Given the description of an element on the screen output the (x, y) to click on. 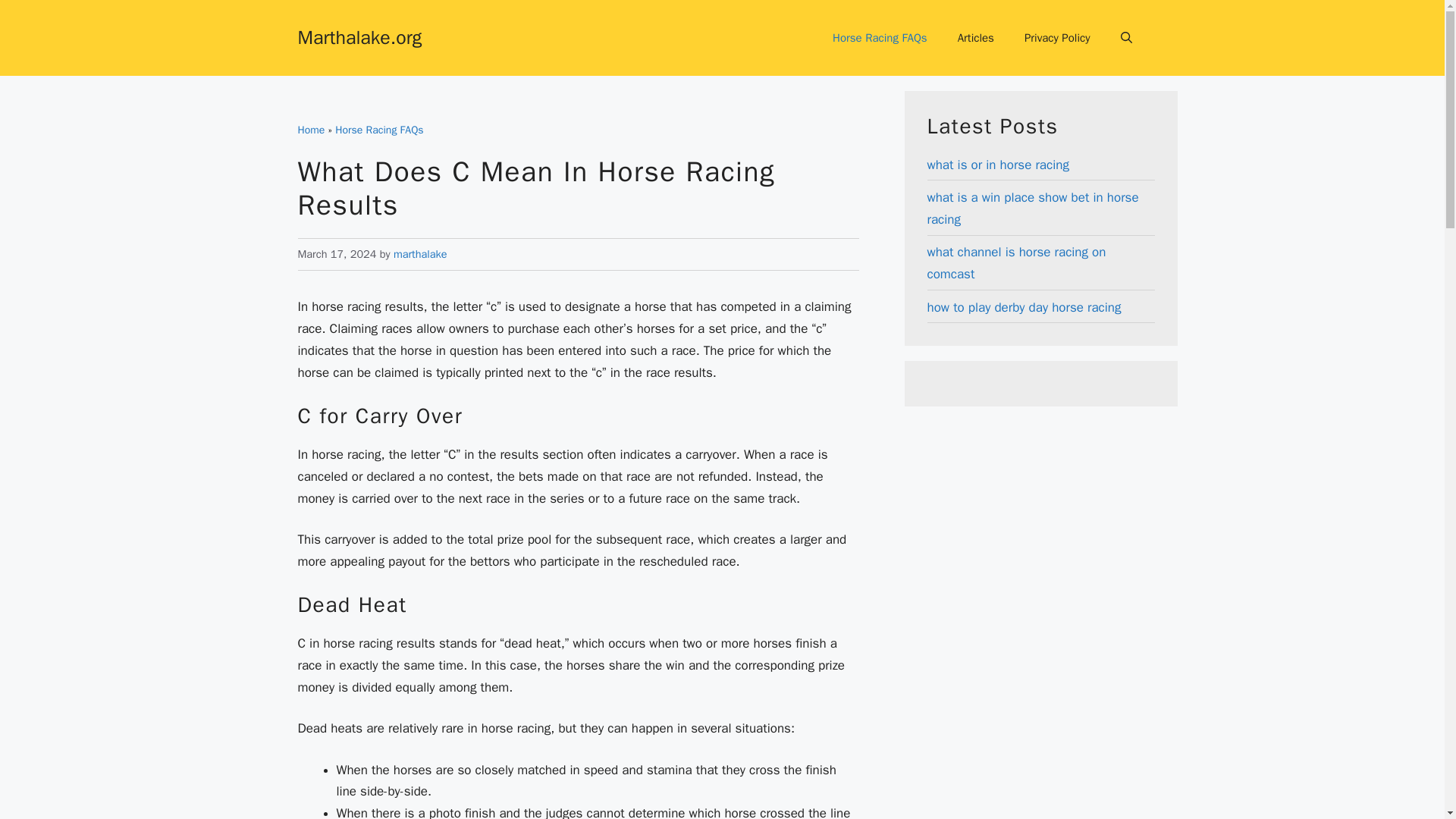
Horse Racing FAQs (879, 37)
Horse Racing FAQs (378, 129)
what is or in horse racing (997, 164)
Articles (975, 37)
what is a win place show bet in horse racing (1032, 208)
Home (310, 129)
Privacy Policy (1057, 37)
Marthalake.org (359, 37)
marthalake (419, 254)
View all posts by marthalake (419, 254)
